Given the description of an element on the screen output the (x, y) to click on. 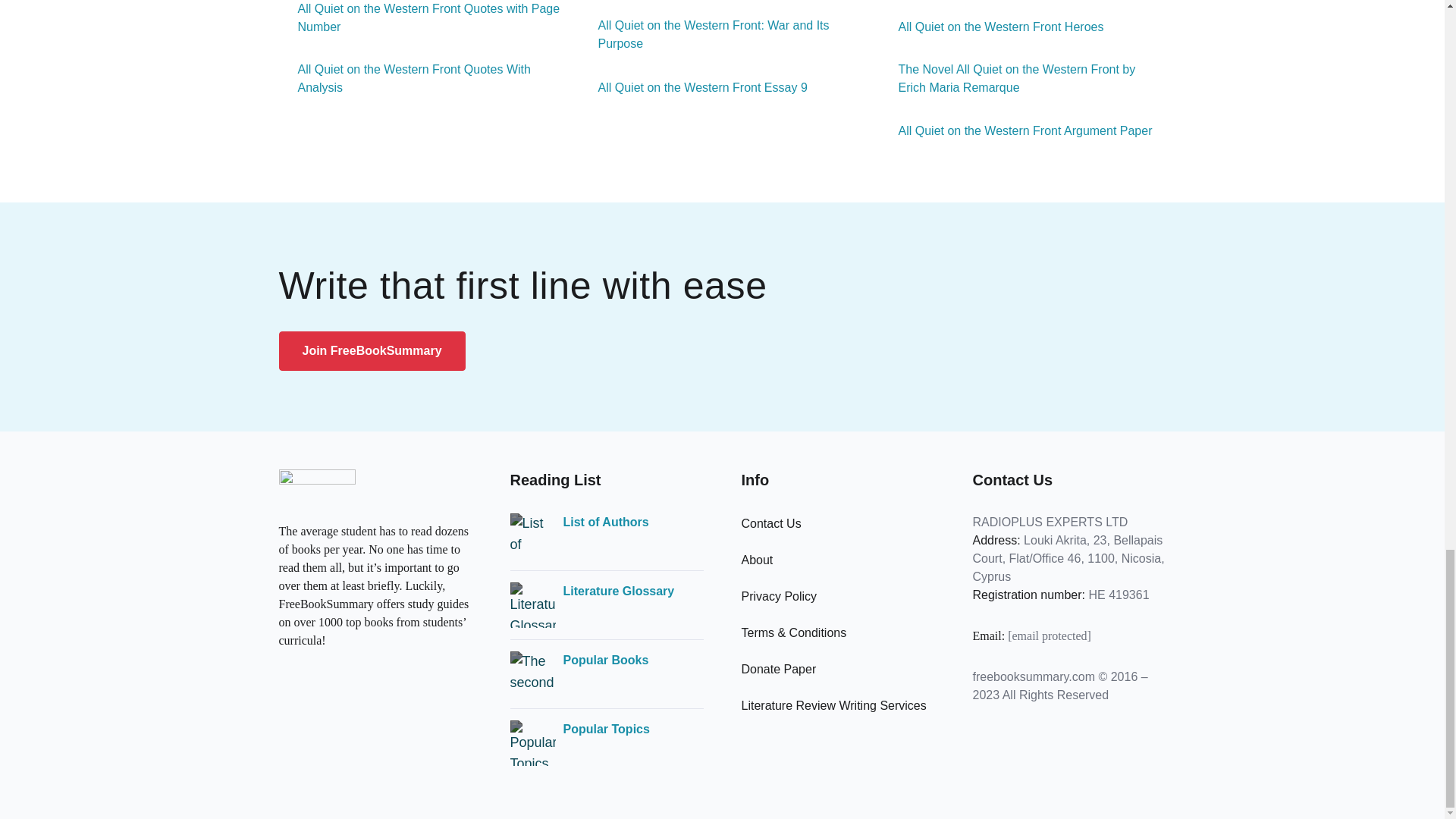
All Quiet on the Western Front Quotes with Page Number (422, 18)
All Quiet on the Western Front Quotes With Analysis (422, 78)
All Quiet on the Western Front: War and Its Purpose (722, 34)
All Quiet on the Western Front Argument Paper (1016, 131)
All Quiet on the Western Front Heroes (991, 27)
All Quiet on the Western Front Essay 9 (693, 87)
List of Authors (604, 522)
Literature Glossary (618, 591)
